Given the description of an element on the screen output the (x, y) to click on. 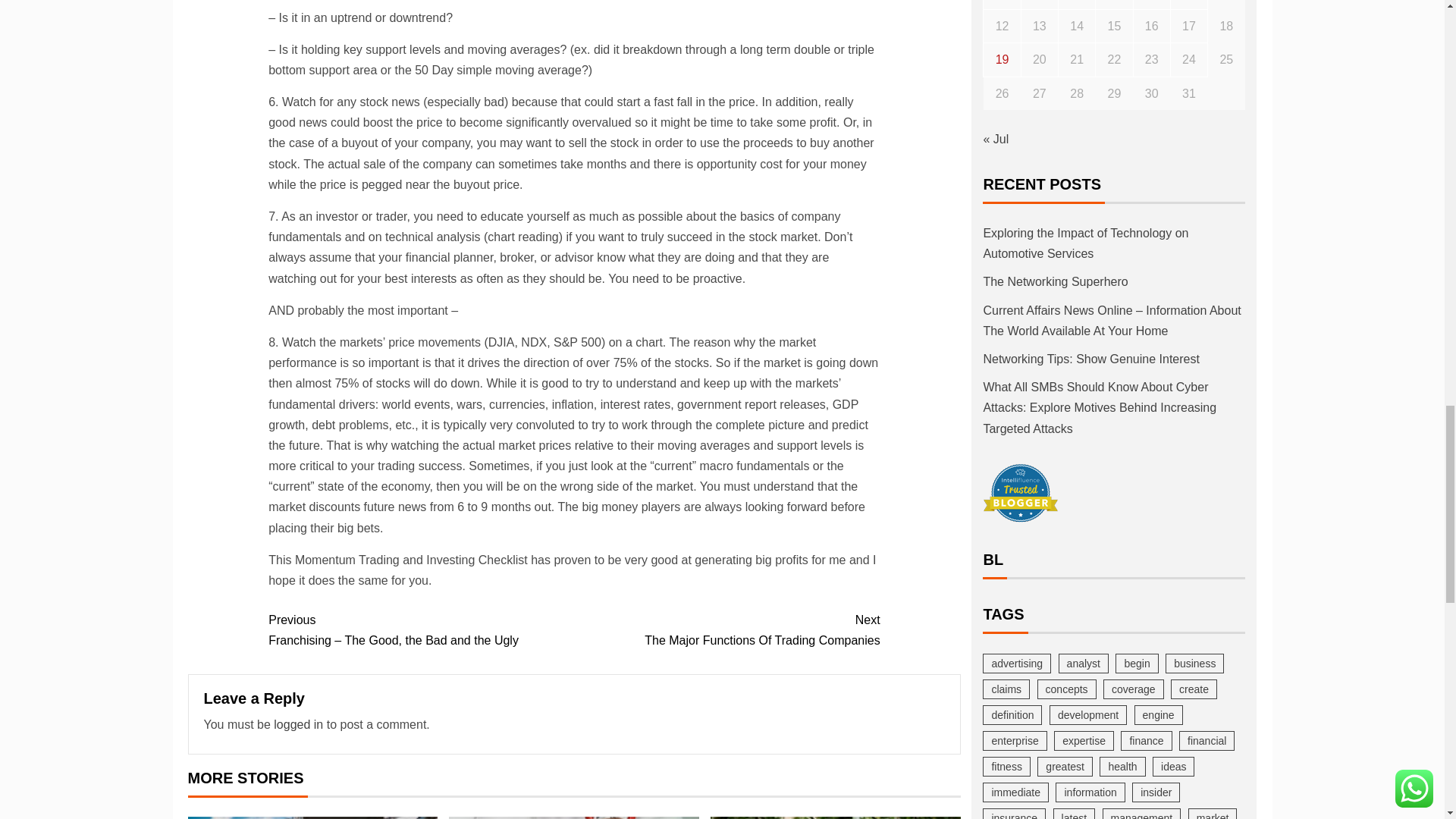
logged in (298, 724)
